Given the description of an element on the screen output the (x, y) to click on. 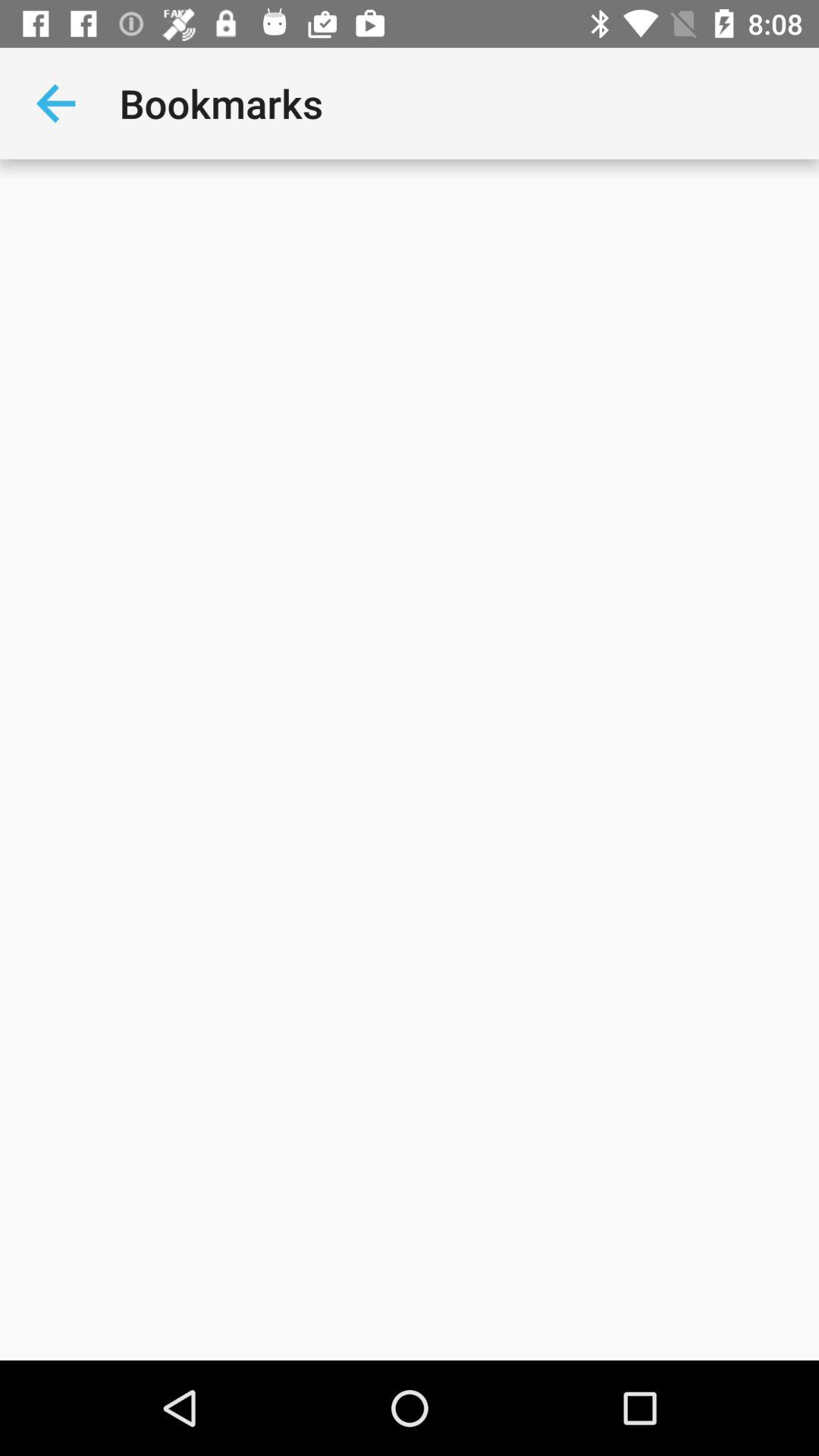
launch the item next to the bookmarks (55, 103)
